Given the description of an element on the screen output the (x, y) to click on. 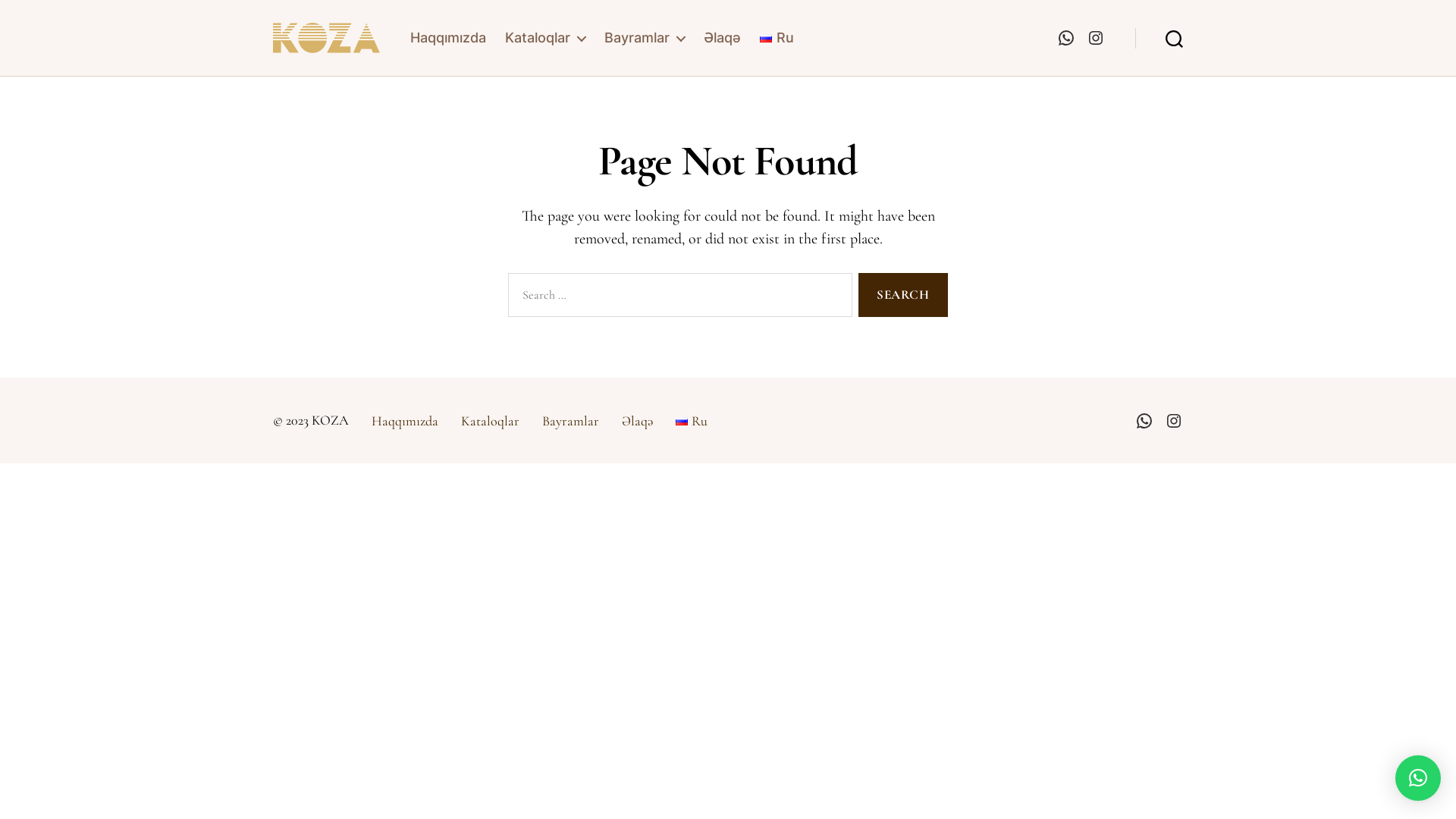
Kataloqlar Element type: text (490, 420)
Kataloqlar Element type: text (545, 37)
Bayramlar Element type: text (644, 37)
KOZA Element type: text (329, 419)
Instagram Element type: text (1173, 420)
Search Element type: text (1174, 37)
Ru Element type: text (691, 420)
WhatsApp Element type: text (1066, 37)
Bayramlar Element type: text (570, 420)
Search Element type: text (902, 295)
WhatsApp Element type: text (1144, 420)
Instagram Element type: text (1095, 37)
Ru Element type: text (776, 37)
